Given the description of an element on the screen output the (x, y) to click on. 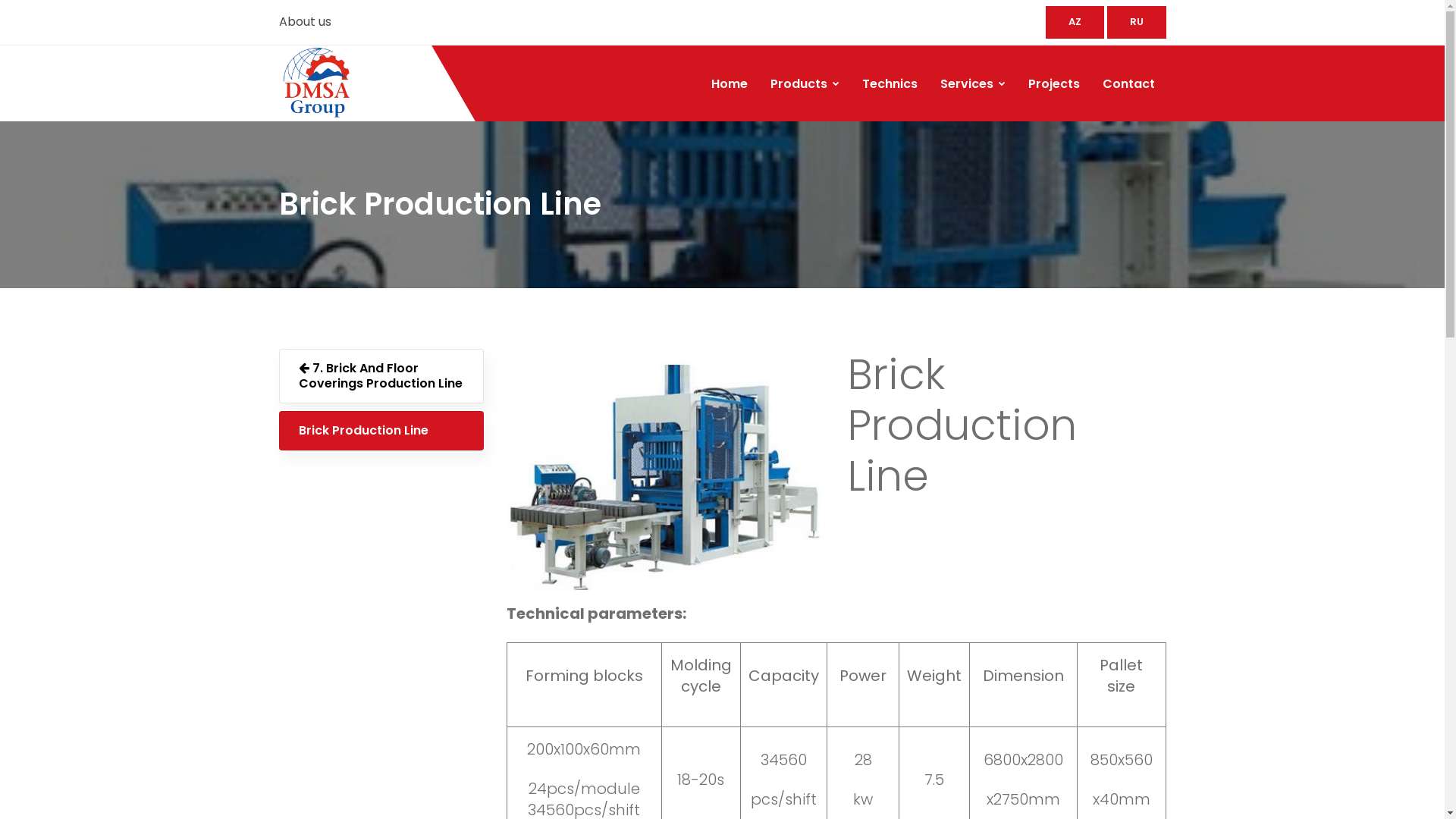
Projects Element type: text (1053, 83)
About us Element type: text (305, 21)
RU Element type: text (1136, 22)
Products Element type: text (804, 83)
7. Brick And Floor Coverings Production Line Element type: text (381, 375)
Technics Element type: text (889, 83)
AZ Element type: text (1073, 22)
Services Element type: text (972, 83)
Brick Production Line Element type: text (381, 430)
Home Element type: text (728, 83)
Contact Element type: text (1127, 83)
